Given the description of an element on the screen output the (x, y) to click on. 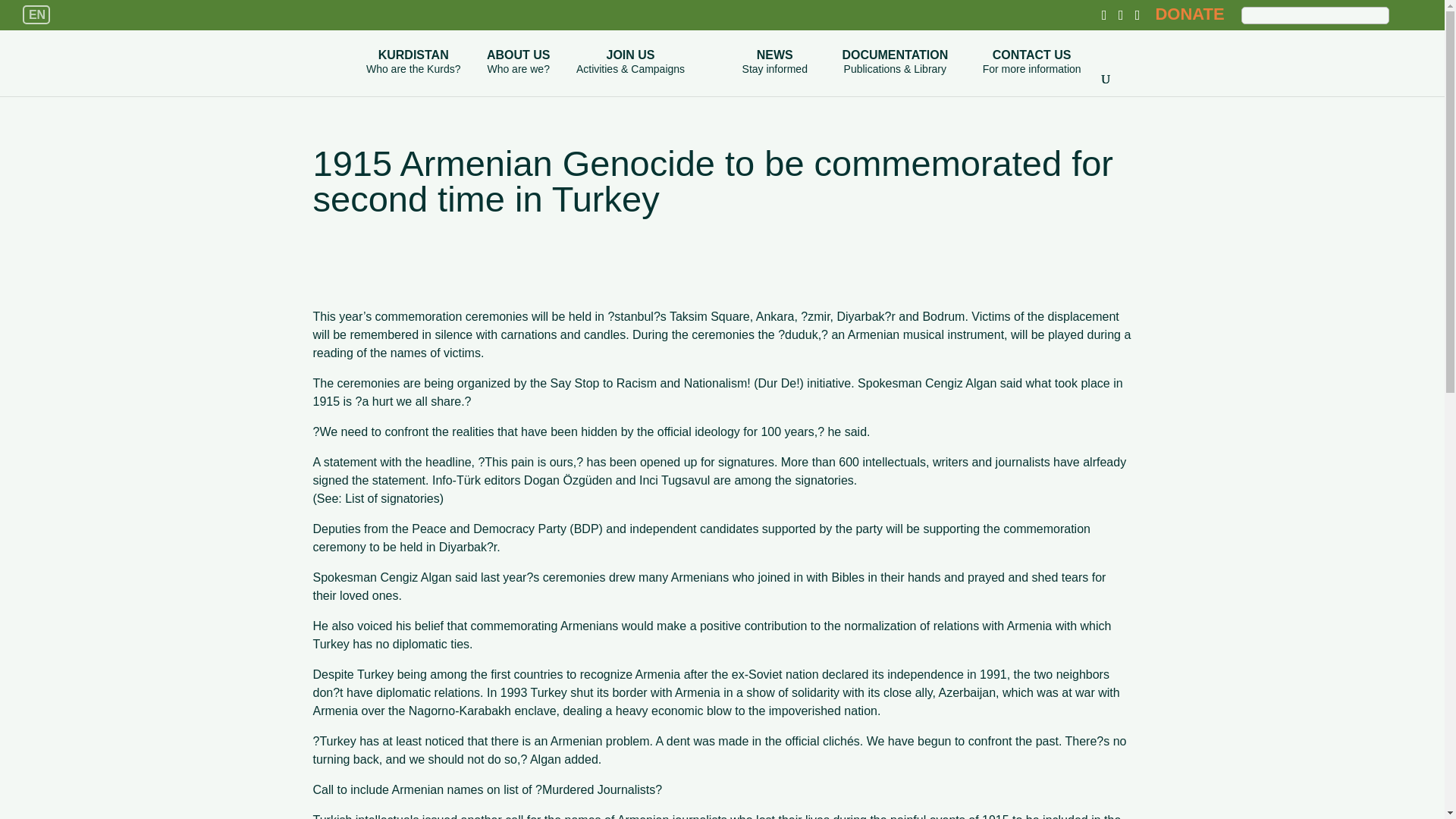
Search (1406, 14)
Search (1406, 14)
DONATE (1189, 13)
